Given the description of an element on the screen output the (x, y) to click on. 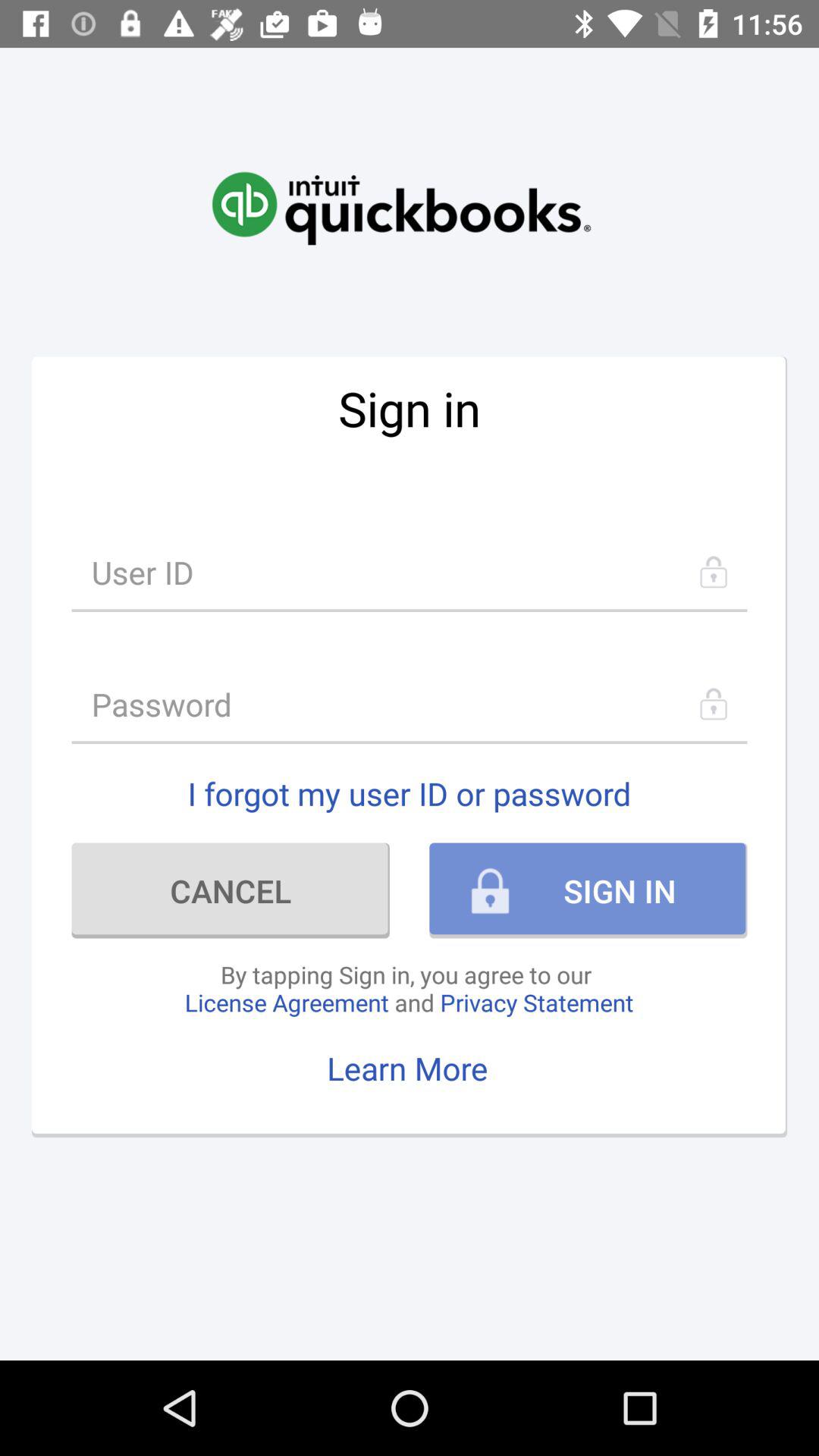
press the icon to the left of the sign in (230, 890)
